Given the description of an element on the screen output the (x, y) to click on. 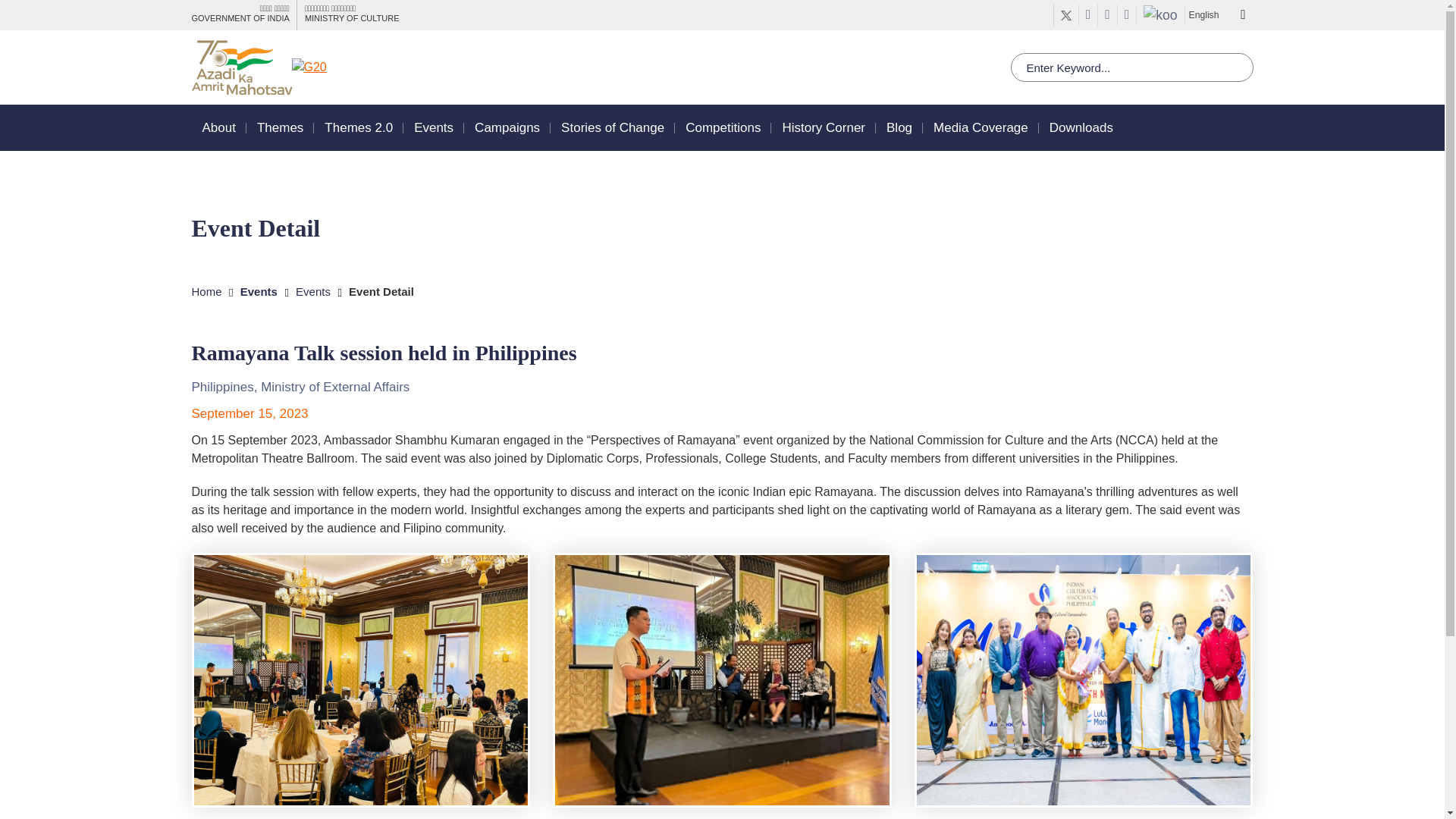
Themes 2.0 (358, 127)
Go (13, 11)
Competitions (722, 127)
Enter Keyword... (1131, 67)
Enter Keyword... (1131, 67)
Enter Keyword (1131, 67)
Koo (1161, 14)
Events (432, 127)
Campaigns (507, 127)
